Given the description of an element on the screen output the (x, y) to click on. 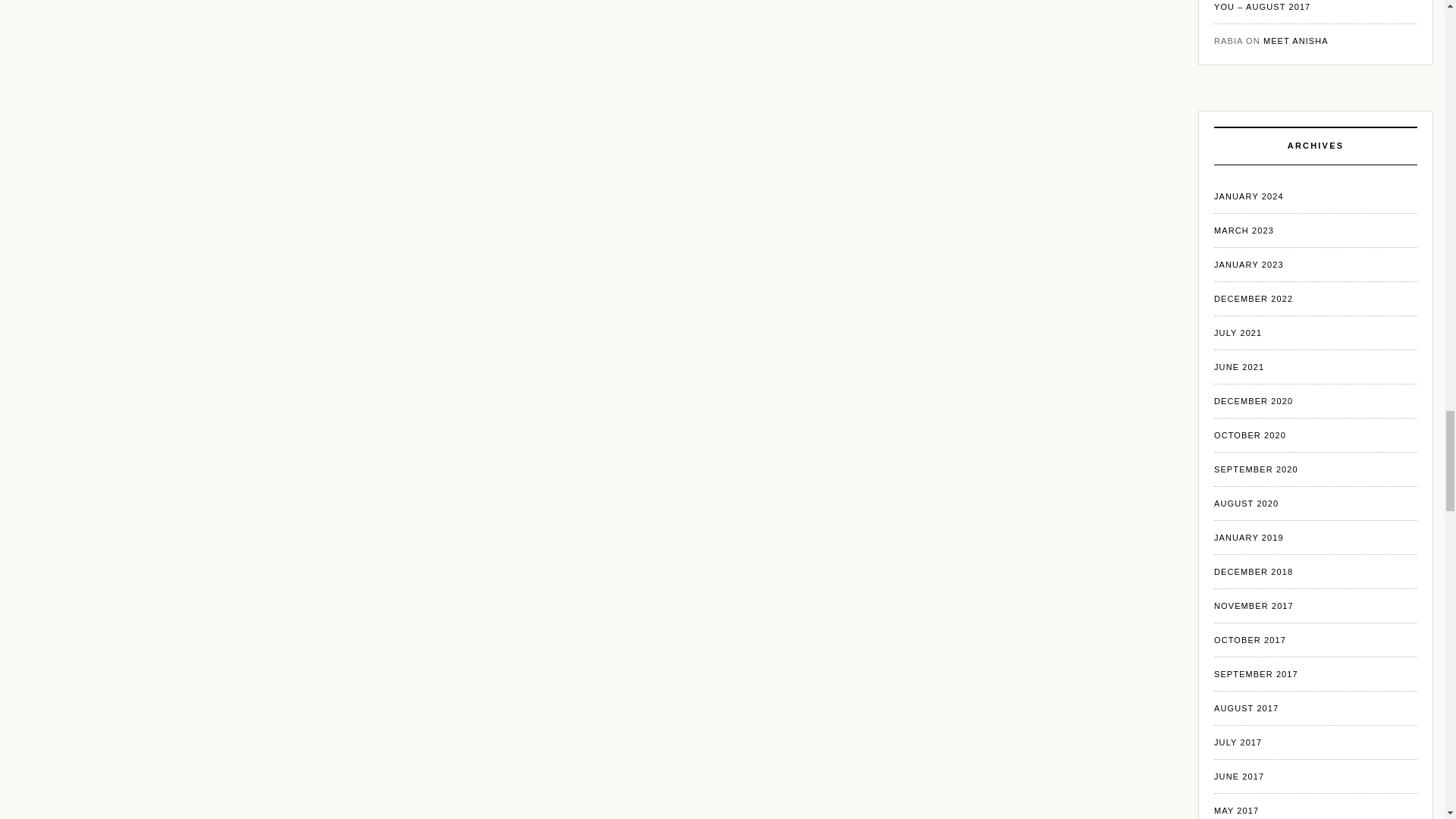
JANUARY 2024 (1249, 195)
MEET ANISHA (1295, 40)
MARCH 2023 (1244, 230)
